Given the description of an element on the screen output the (x, y) to click on. 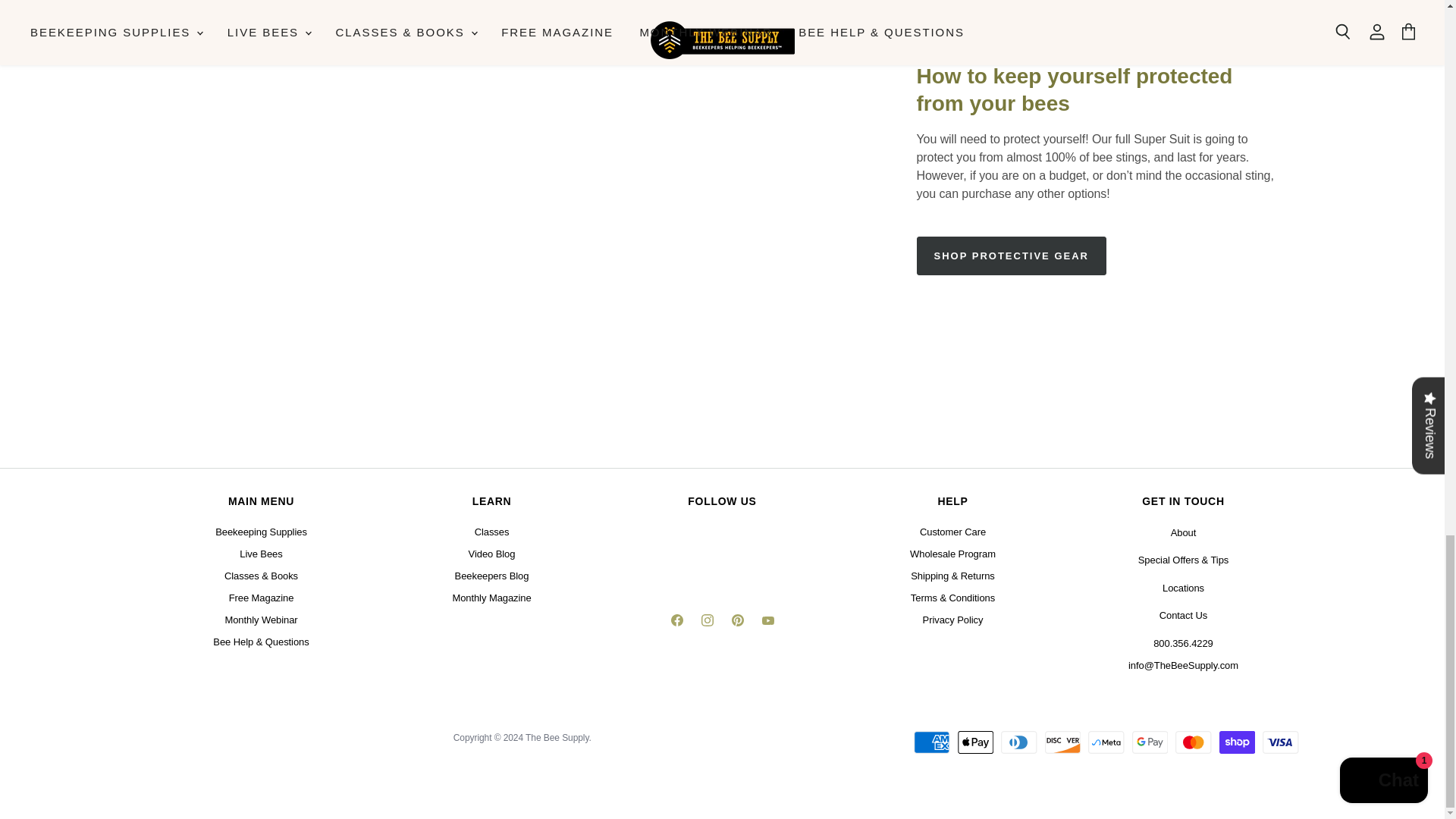
Instagram (706, 623)
Contact Us (1183, 614)
YouTube (767, 623)
Facebook (676, 623)
Pinterest (737, 623)
